Given the description of an element on the screen output the (x, y) to click on. 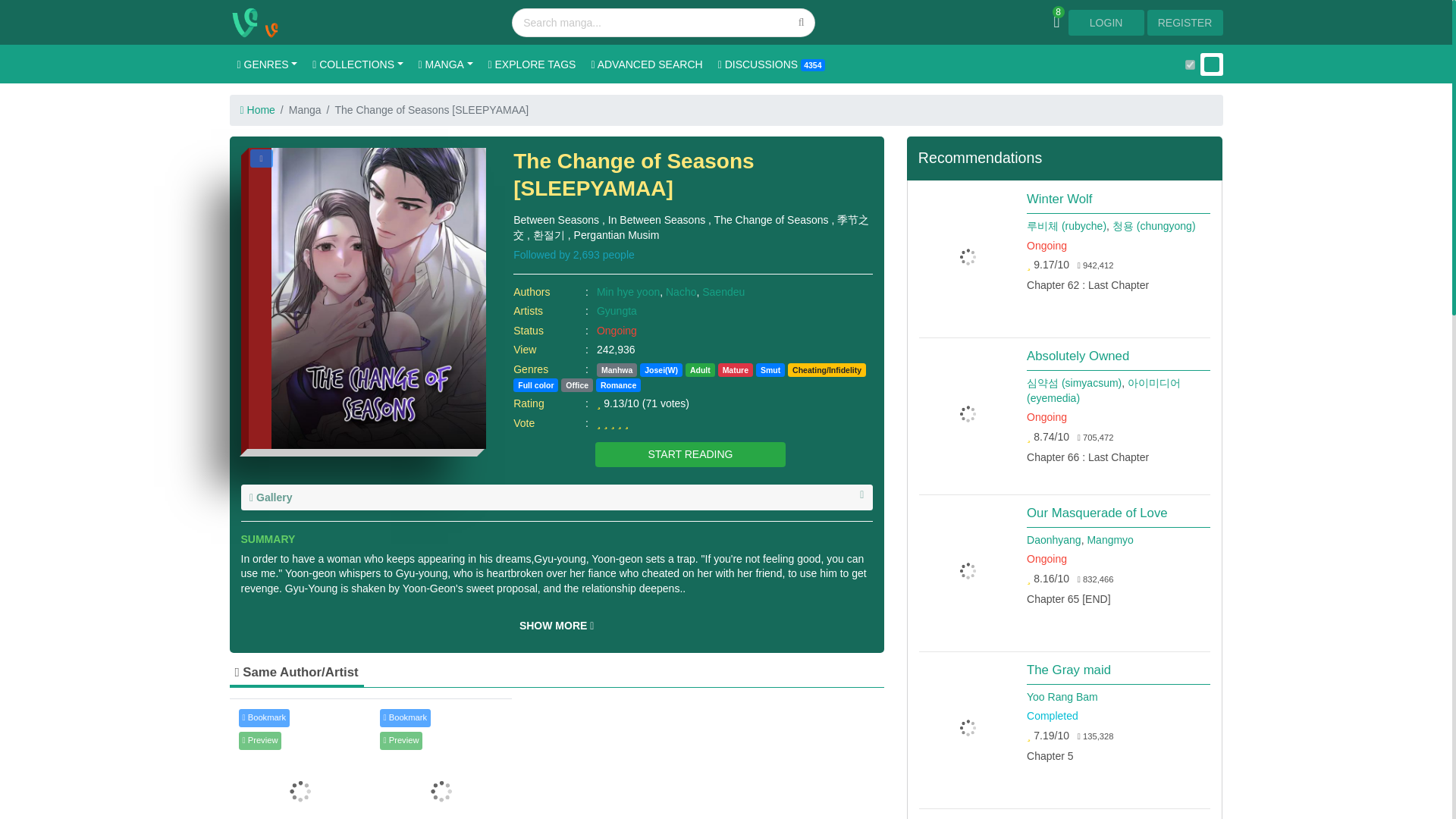
REGISTER (1185, 21)
on (1189, 63)
LOGIN (1106, 22)
GENRES (266, 64)
LOGIN (1107, 21)
REGISTER (1185, 22)
Golden Opportunity (299, 763)
Bookmark (261, 158)
I'm coming, coming! (440, 763)
